Given the description of an element on the screen output the (x, y) to click on. 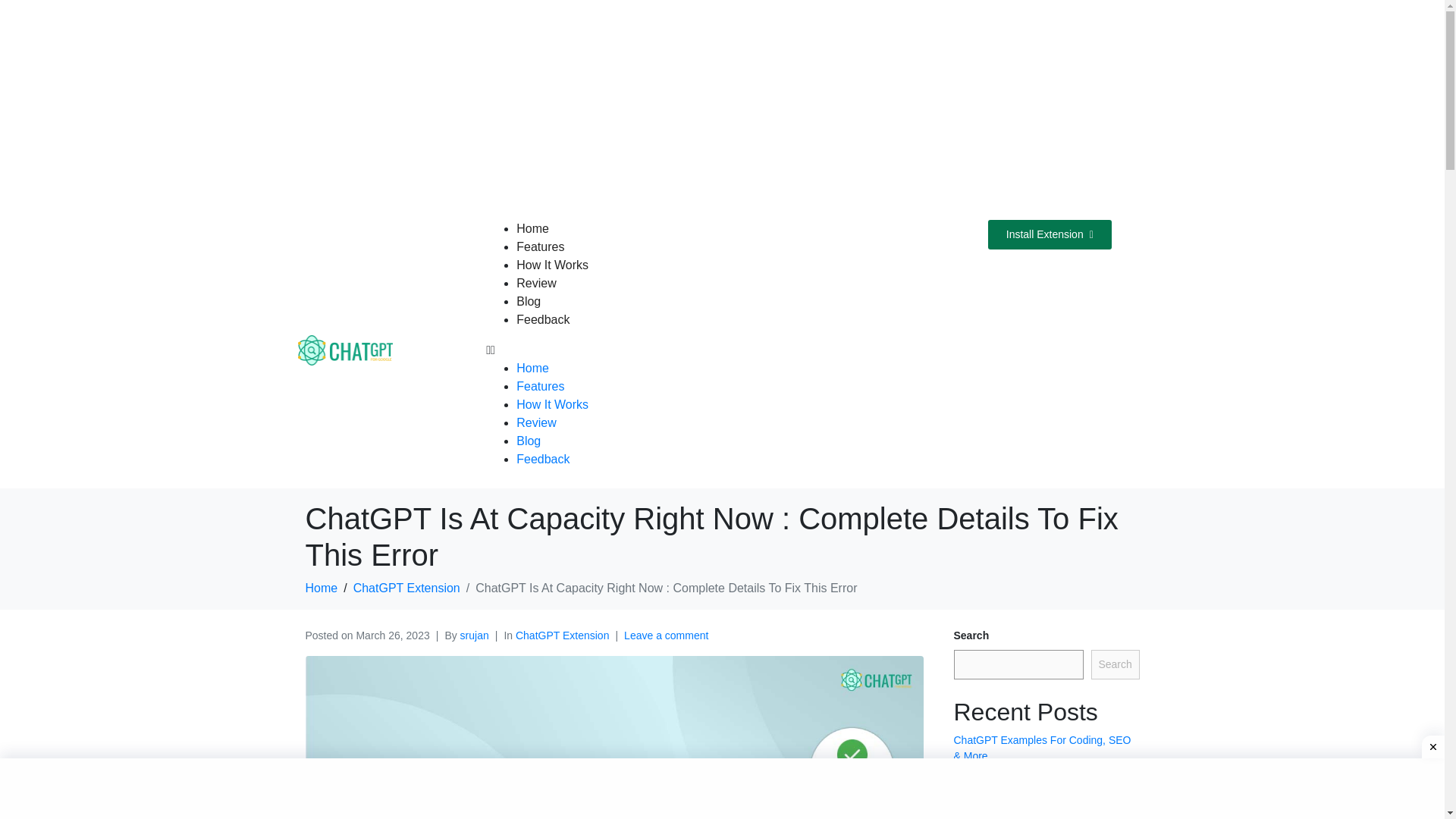
Install Extension (1050, 234)
Leave a comment (665, 635)
Features (540, 386)
ChatGPT Limitations That You Should Be Aware of (1042, 806)
srujan (474, 635)
Review (536, 282)
ChatGPT Extension (406, 587)
Feedback (542, 318)
Blog (528, 300)
